Given the description of an element on the screen output the (x, y) to click on. 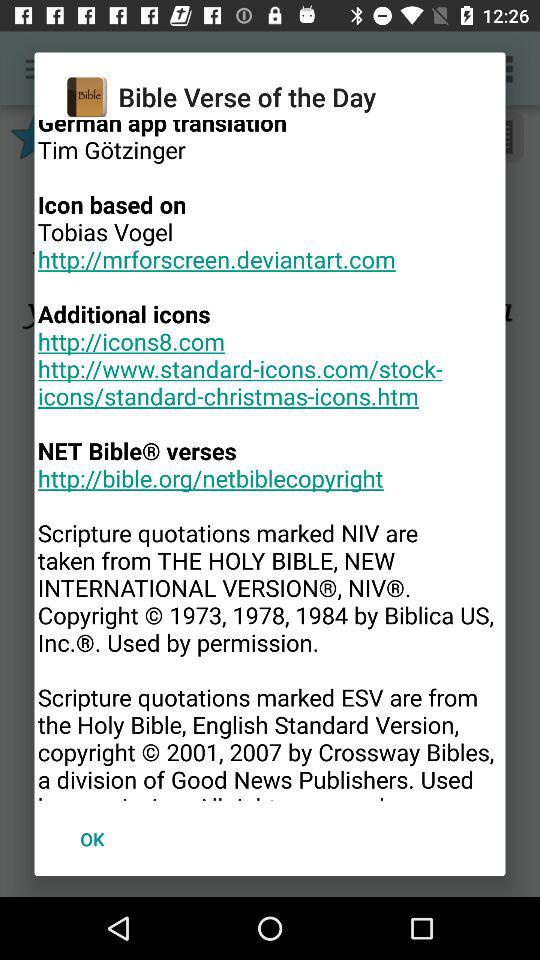
turn off the item at the bottom left corner (92, 838)
